Given the description of an element on the screen output the (x, y) to click on. 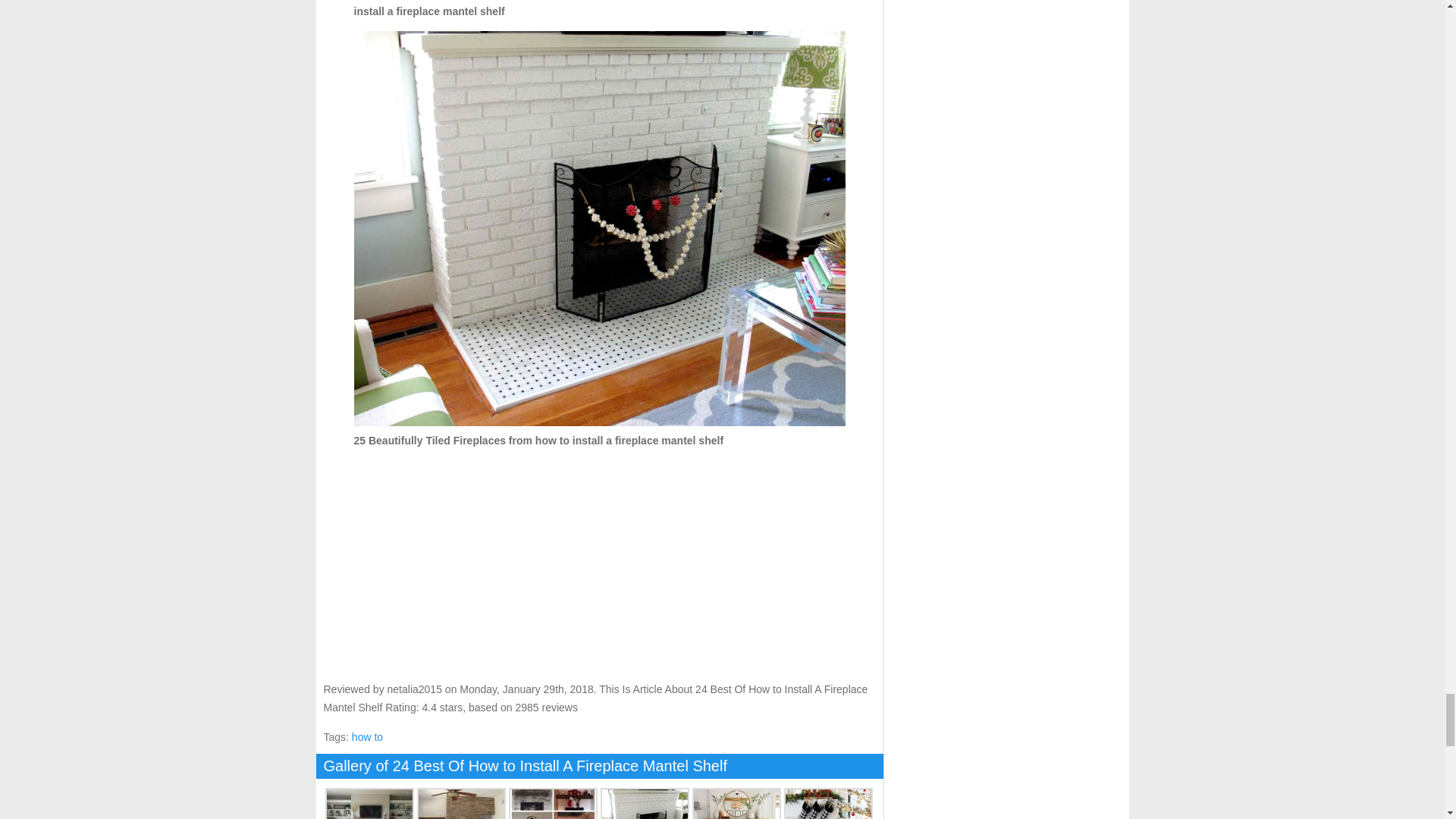
how to (367, 736)
